Given the description of an element on the screen output the (x, y) to click on. 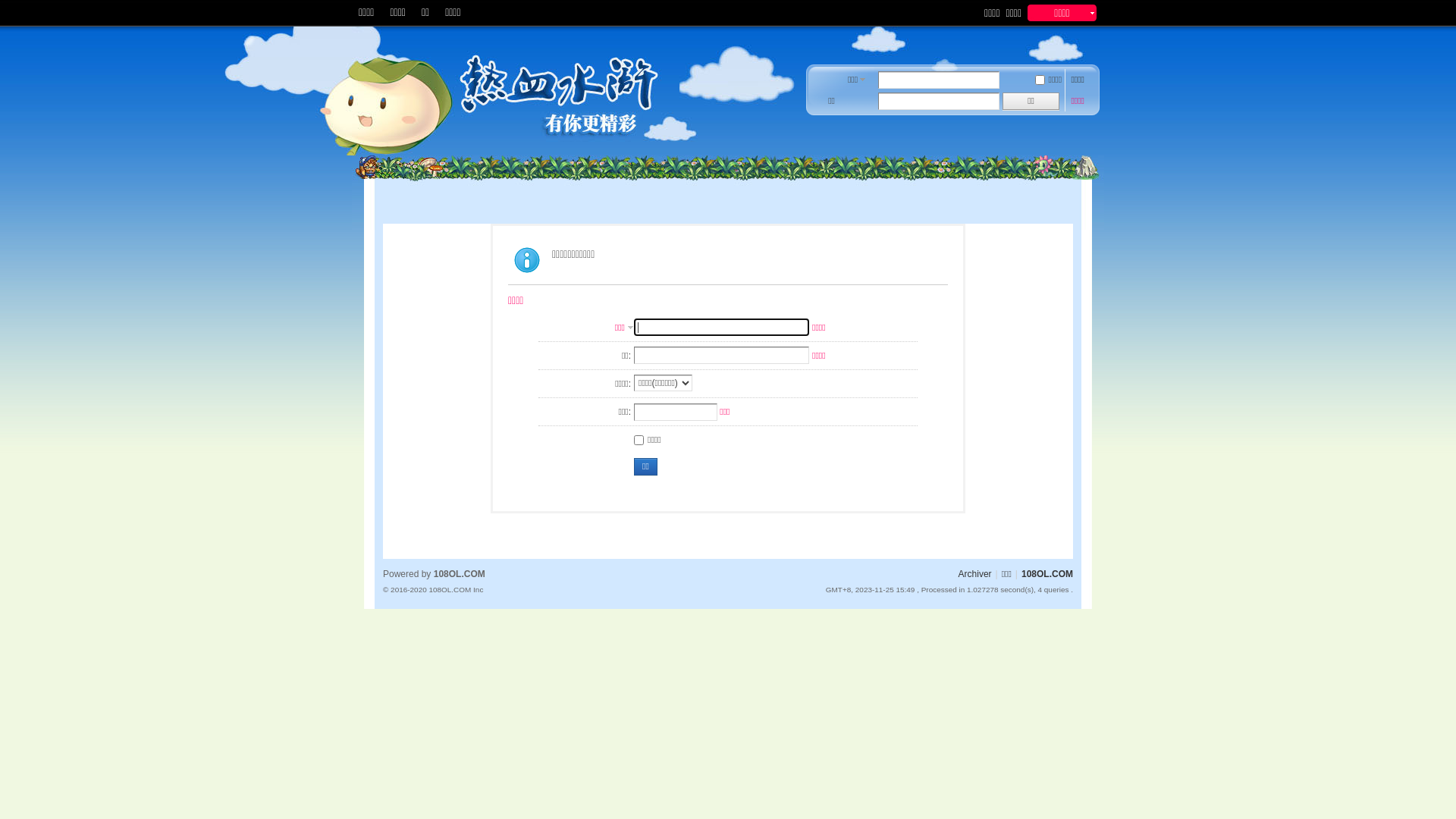
108OL.COM Element type: text (1047, 573)
Archiver Element type: text (974, 573)
